Given the description of an element on the screen output the (x, y) to click on. 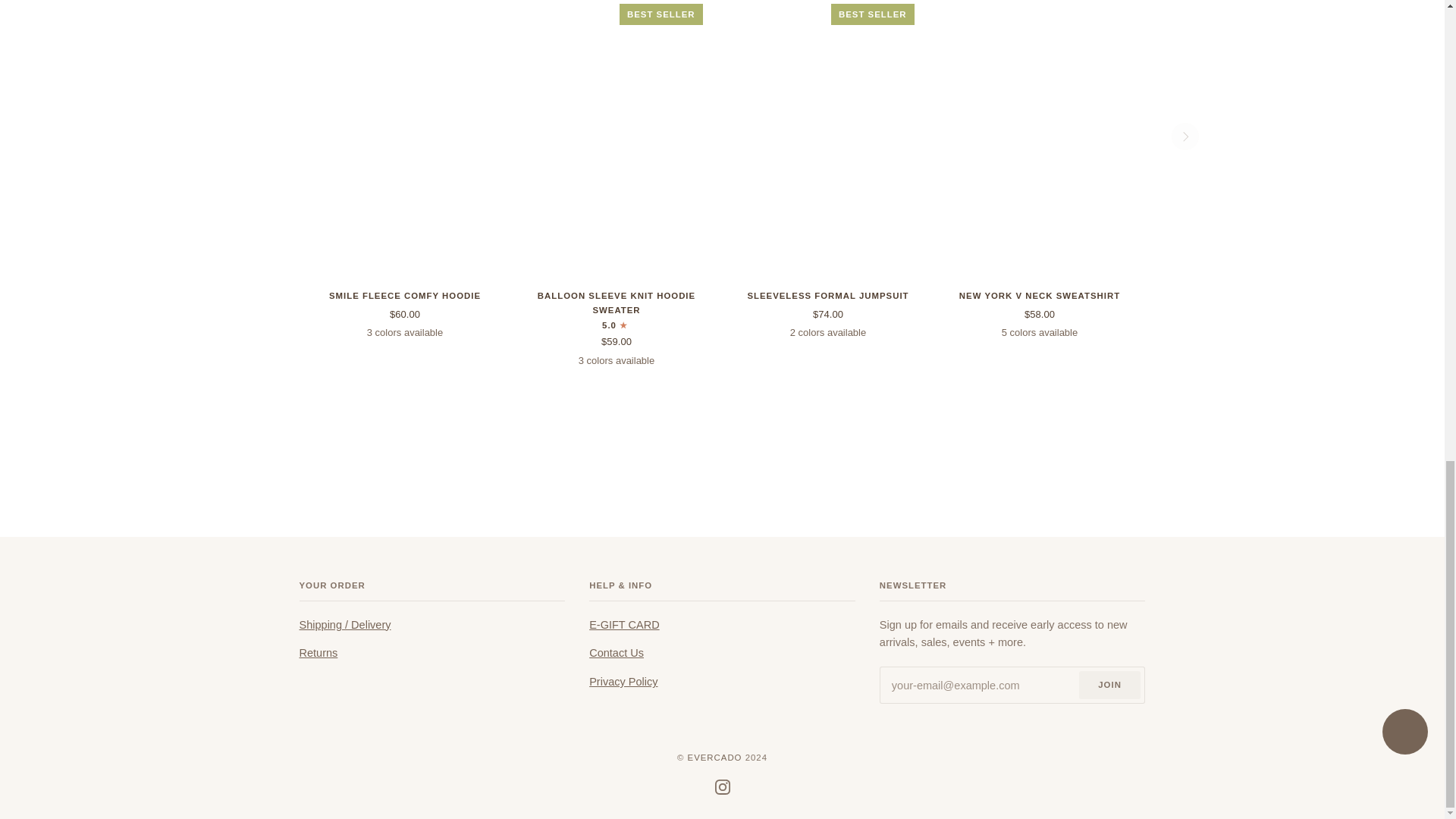
Evercado E-Gift Card (624, 624)
Contact Us (616, 653)
PRIVACY POLICY (623, 681)
Instagram (721, 786)
